Given the description of an element on the screen output the (x, y) to click on. 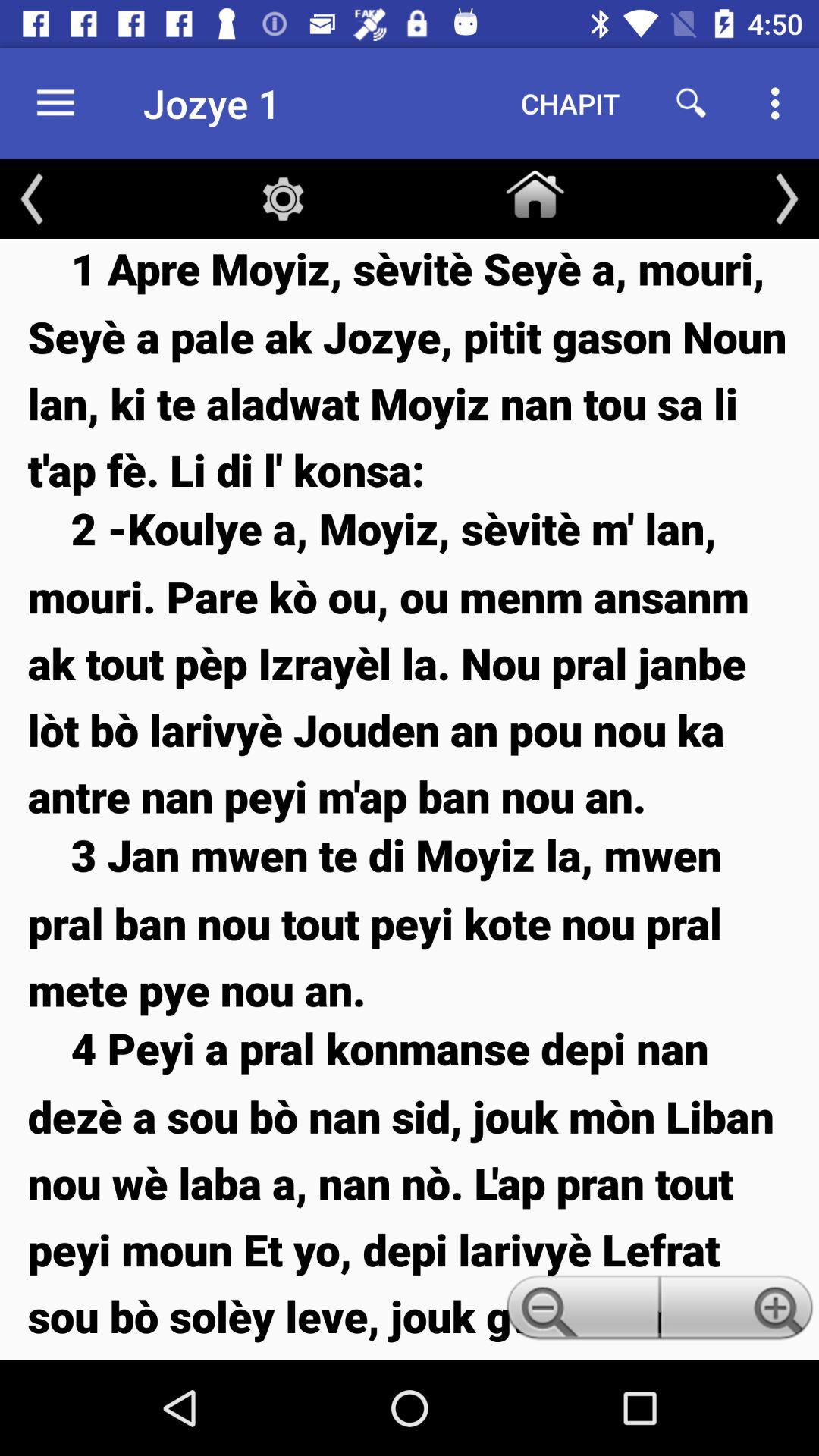
choose item below jozye 1 (283, 198)
